Given the description of an element on the screen output the (x, y) to click on. 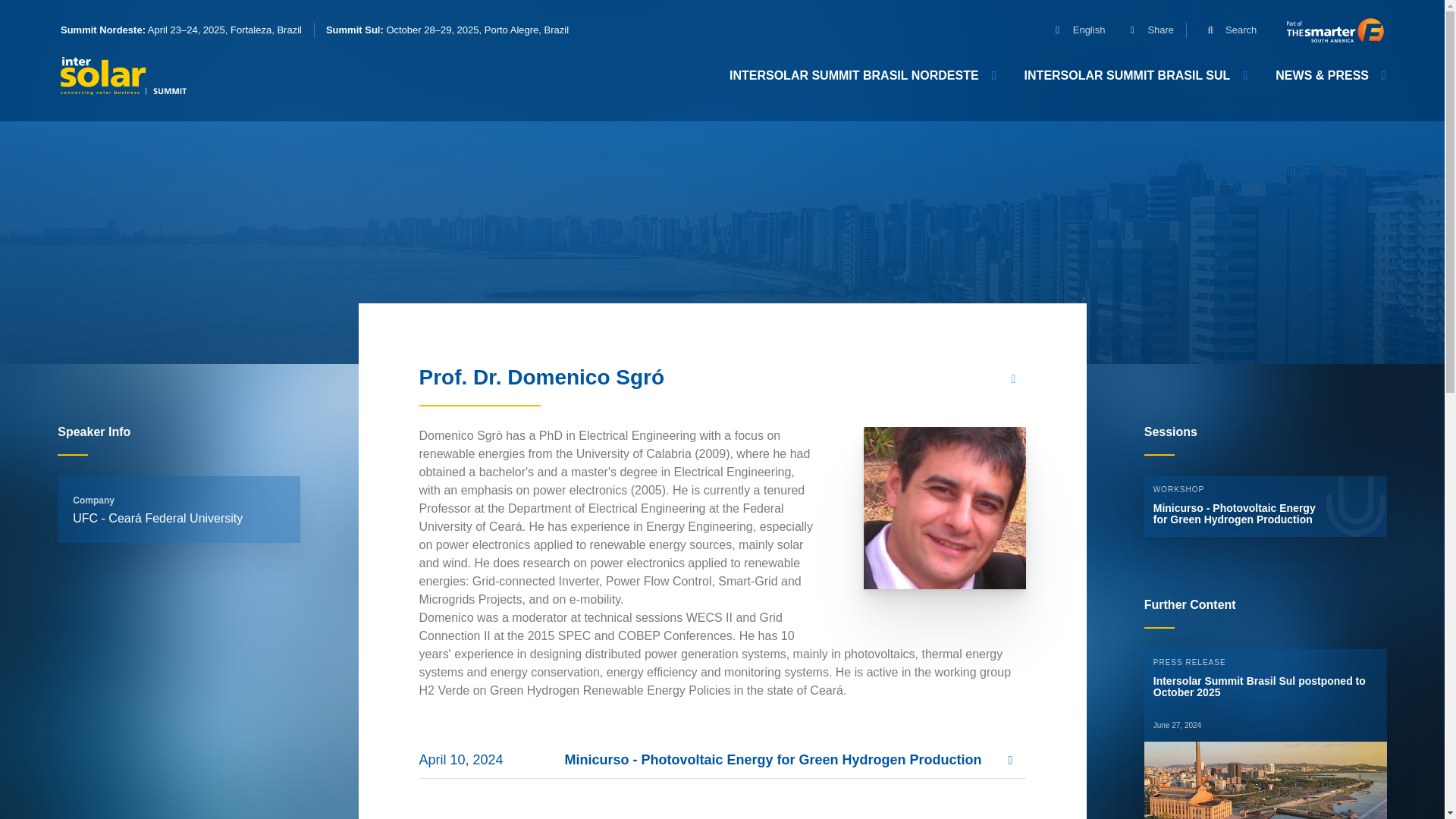
Search (1225, 30)
English (1073, 30)
Search (1225, 30)
INTERSOLAR SUMMIT BRASIL NORDESTE (861, 75)
Share (1144, 30)
Change Language (1073, 30)
Share this page (1013, 378)
INTERSOLAR SUMMIT BRASIL SUL (1134, 75)
Share (1144, 30)
